Given the description of an element on the screen output the (x, y) to click on. 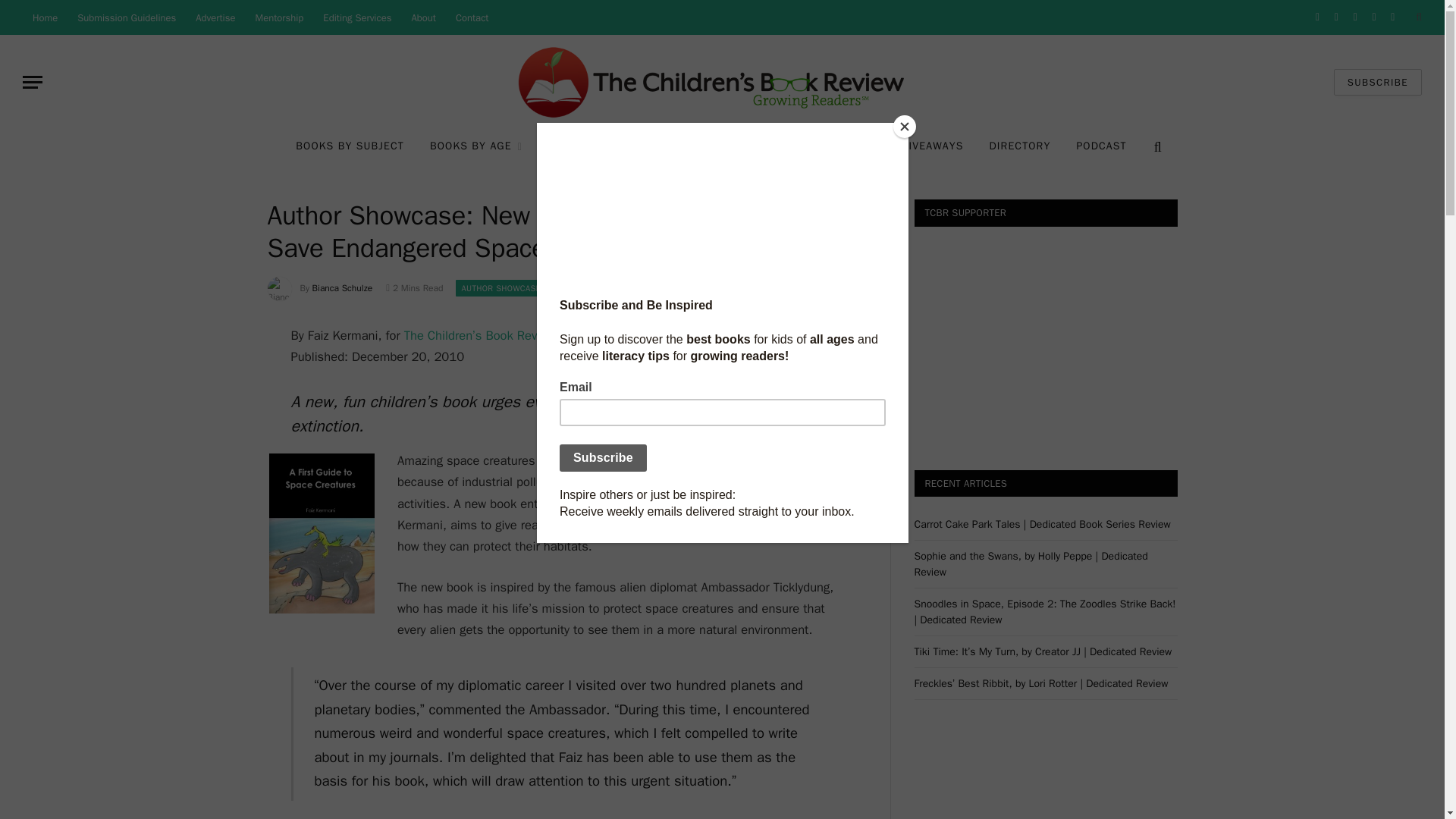
BOOKS BY AGE (475, 146)
Editing Services (357, 17)
Posts by Bianca Schulze (342, 287)
SUBSCRIBE (1377, 81)
Mentorship (280, 17)
FAVORITES (582, 146)
Contact (472, 17)
About (423, 17)
Advertise (215, 17)
The Children's Book Review (722, 82)
Submission Guidelines (126, 17)
BOOKS BY SUBJECT (349, 146)
Home (44, 17)
